Given the description of an element on the screen output the (x, y) to click on. 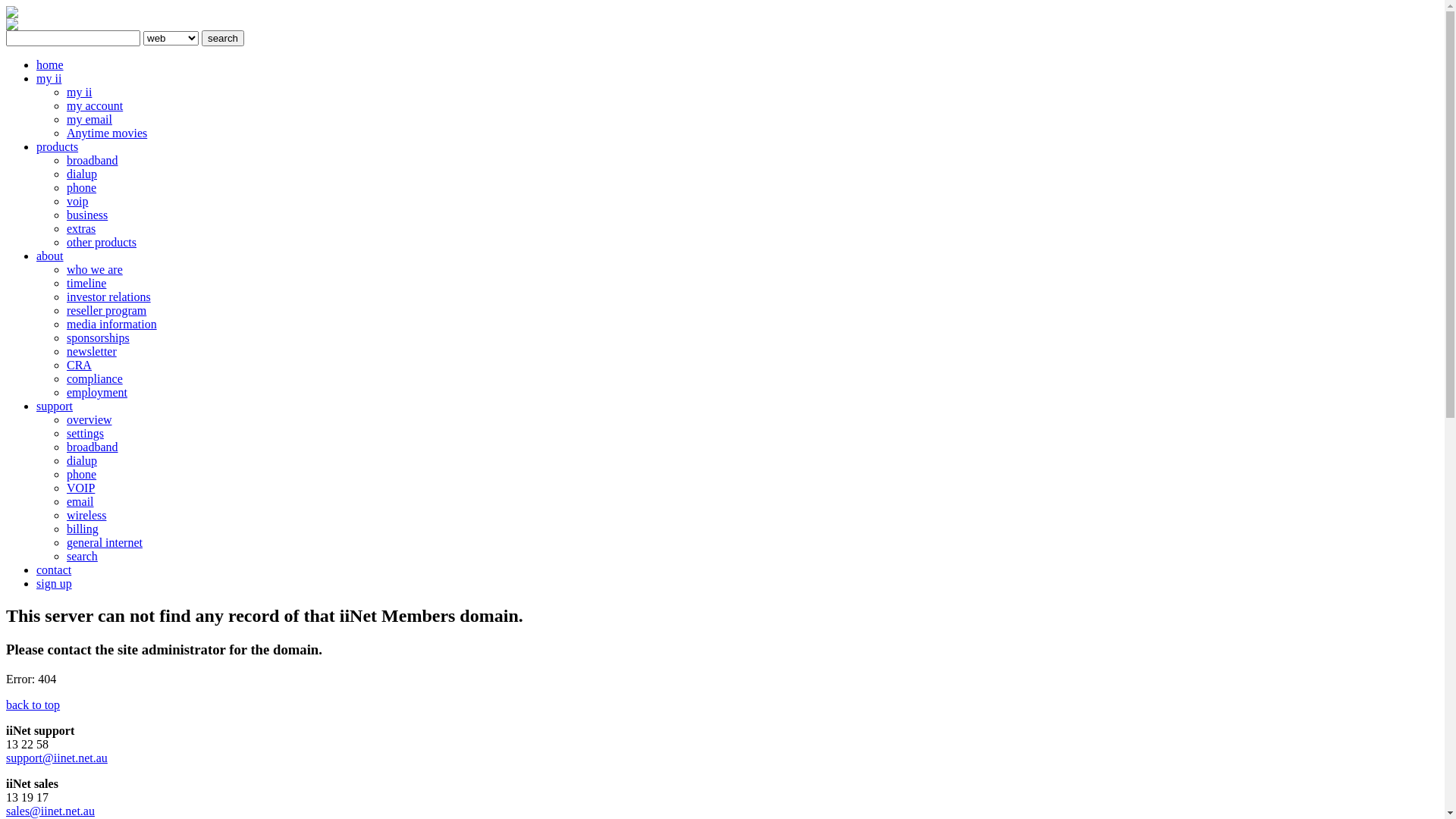
phone Element type: text (81, 473)
wireless Element type: text (86, 514)
compliance Element type: text (94, 378)
support@iinet.net.au Element type: text (56, 757)
about Element type: text (49, 255)
media information Element type: text (111, 323)
back to top Element type: text (32, 704)
newsletter Element type: text (91, 351)
reseller program Element type: text (106, 310)
timeline Element type: text (86, 282)
employment Element type: text (96, 391)
billing Element type: text (82, 528)
broadband Element type: text (92, 446)
email Element type: text (80, 501)
sponsorships Element type: text (97, 337)
my ii Element type: text (48, 78)
VOIP Element type: text (80, 487)
voip Element type: text (76, 200)
my ii Element type: text (78, 91)
overview Element type: text (89, 419)
investor relations Element type: text (108, 296)
broadband Element type: text (92, 159)
support Element type: text (54, 405)
my account Element type: text (94, 105)
contact Element type: text (53, 569)
search Element type: text (222, 38)
dialup Element type: text (81, 173)
phone Element type: text (81, 187)
home Element type: text (49, 64)
dialup Element type: text (81, 460)
other products Element type: text (101, 241)
Anytime movies Element type: text (106, 132)
extras Element type: text (80, 228)
business Element type: text (86, 214)
settings Element type: text (84, 432)
products Element type: text (57, 146)
general internet Element type: text (104, 542)
my email Element type: text (89, 118)
CRA Element type: text (78, 364)
sales@iinet.net.au Element type: text (50, 810)
sign up Element type: text (54, 583)
who we are Element type: text (94, 269)
search Element type: text (81, 555)
